Given the description of an element on the screen output the (x, y) to click on. 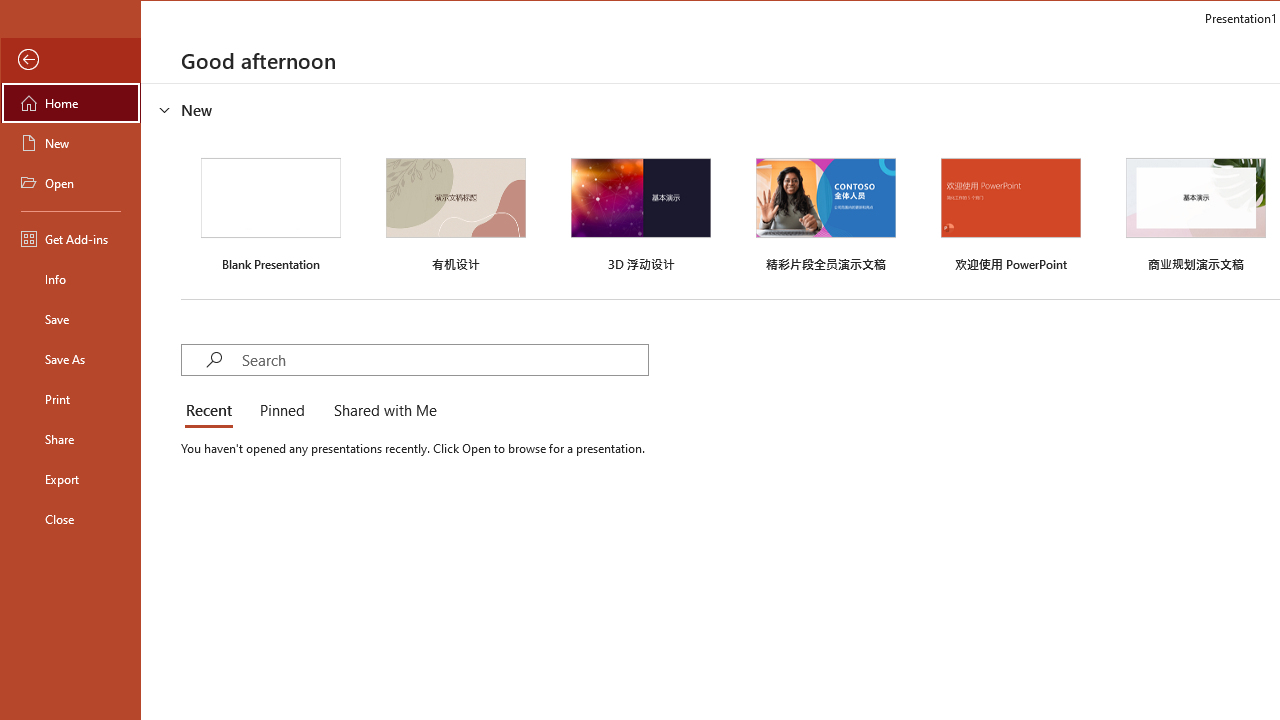
Blank Presentation (270, 212)
Back (70, 60)
Export (70, 478)
Hide or show region (164, 109)
